Given the description of an element on the screen output the (x, y) to click on. 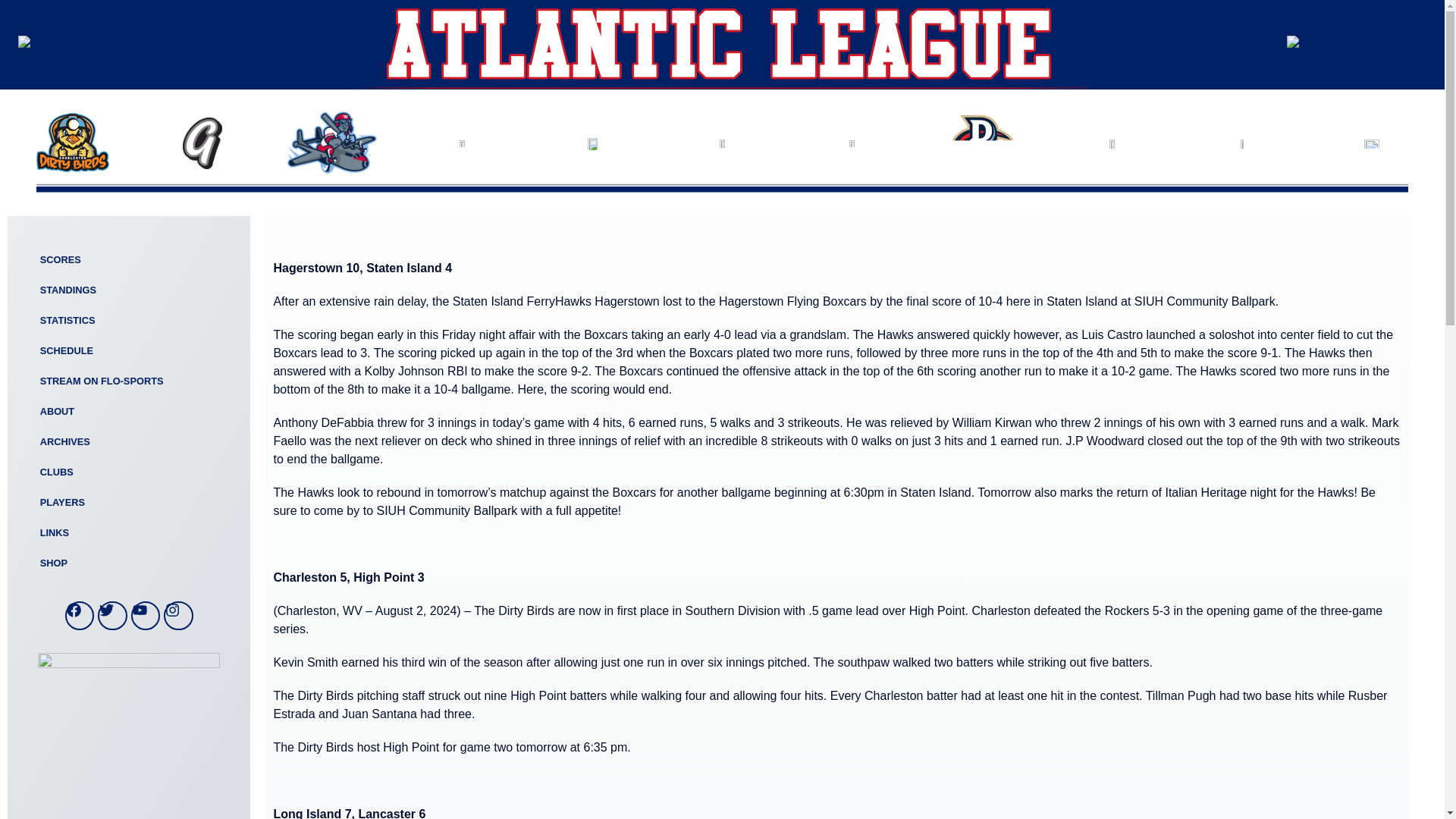
ALPB-Logo-primary2024-edited.png (120, 45)
mlb-partner (1322, 45)
